Given the description of an element on the screen output the (x, y) to click on. 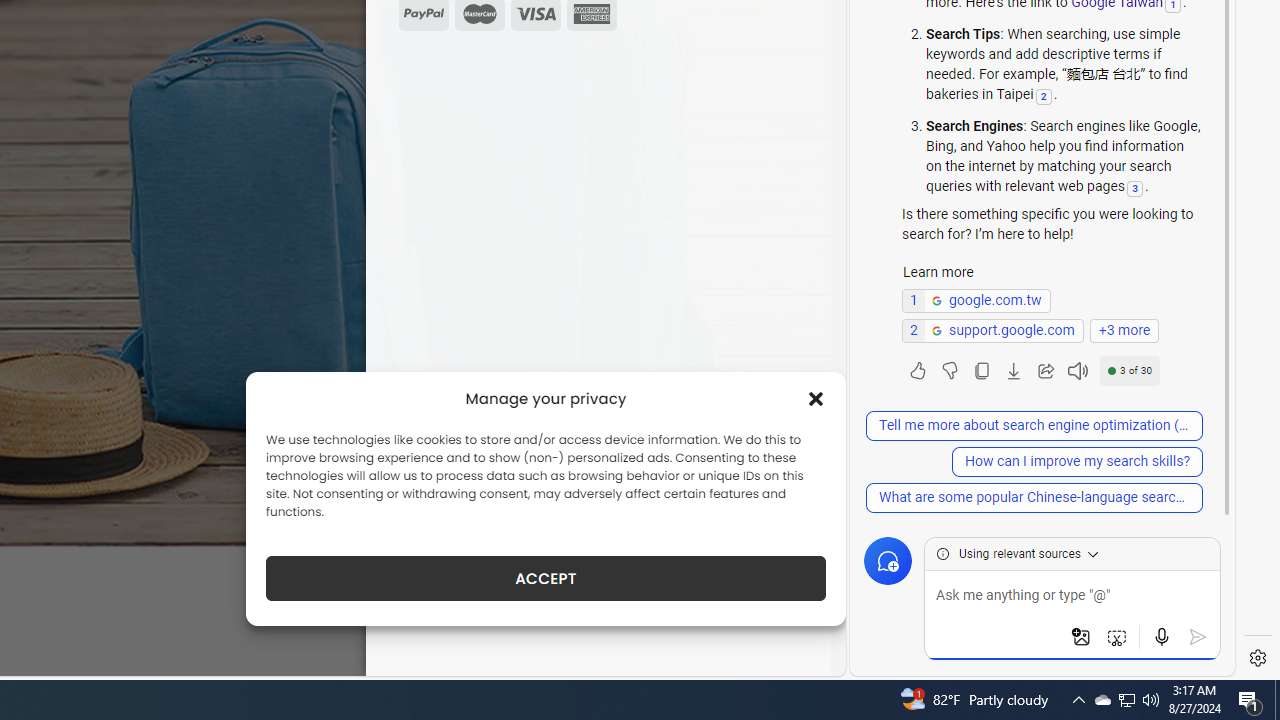
ACCEPT (545, 578)
Class: cmplz-close (815, 398)
